Given the description of an element on the screen output the (x, y) to click on. 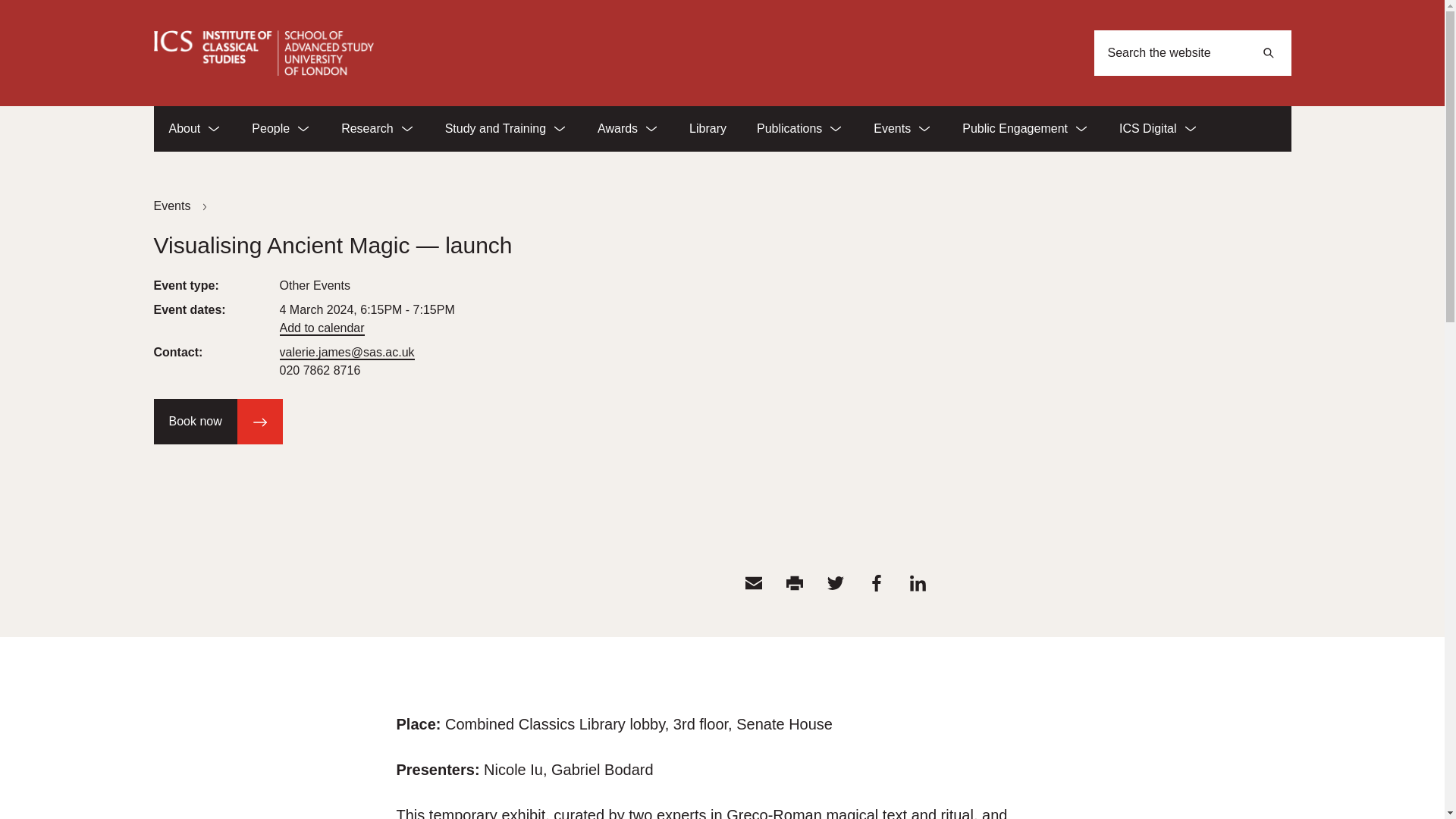
About (193, 128)
Research (377, 128)
Home (262, 53)
Search (1267, 53)
Study and Training (505, 128)
People (280, 128)
